Given the description of an element on the screen output the (x, y) to click on. 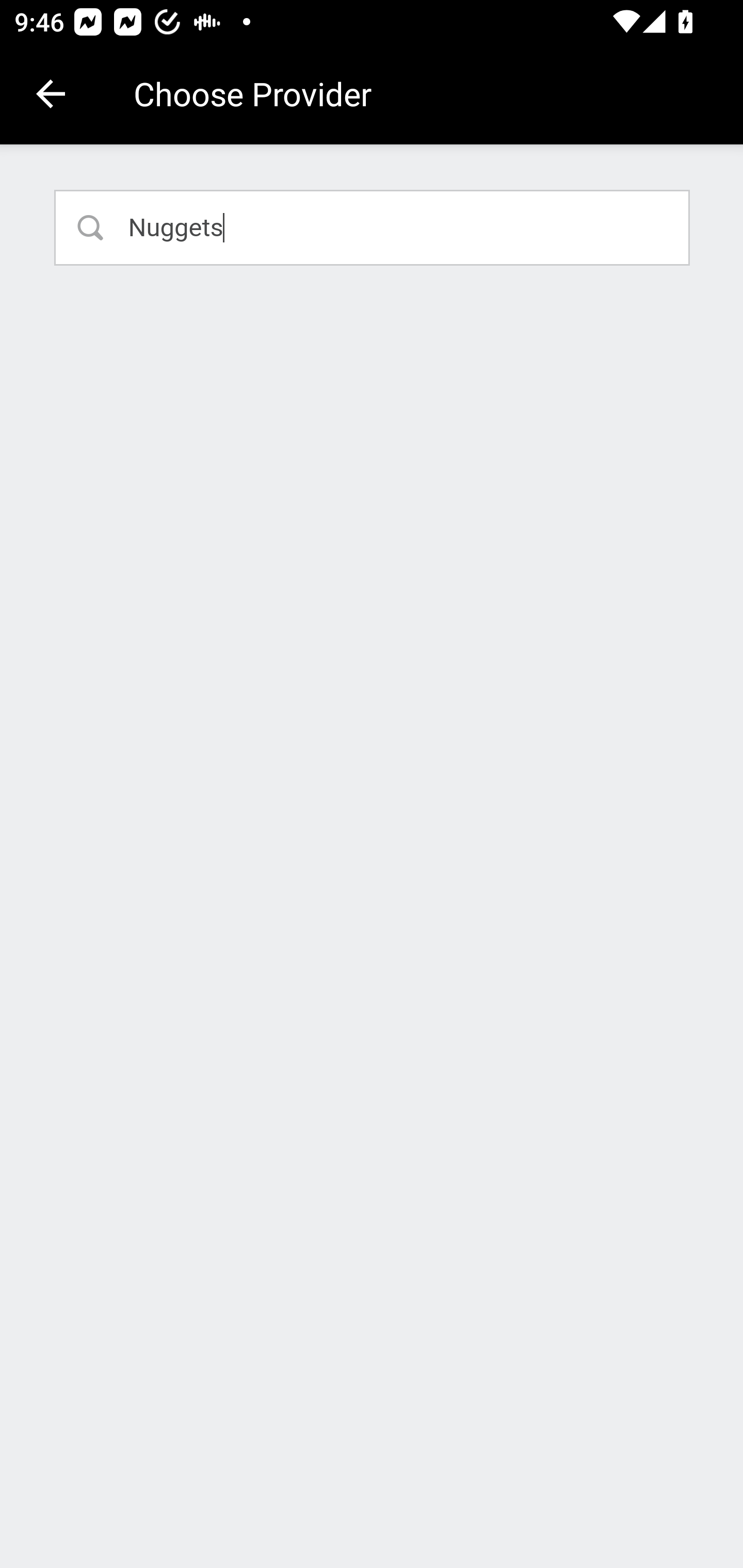
Navigate up (50, 93)
Nuggets (372, 227)
